Given the description of an element on the screen output the (x, y) to click on. 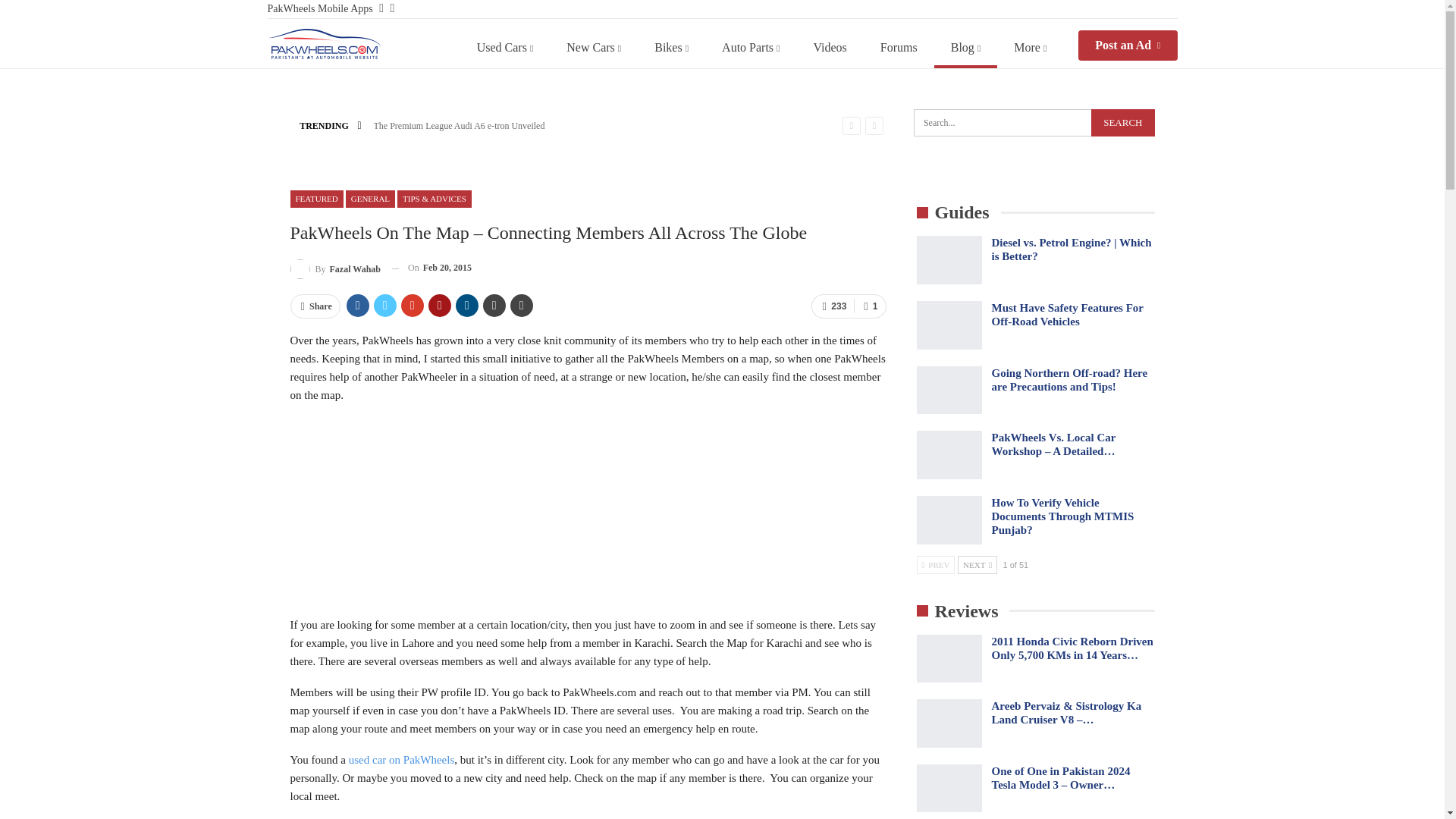
Search (1122, 122)
Used Cars (505, 46)
Used Cars for sale in Pakistan (505, 46)
PakWheels Blog (323, 43)
PakWheels Mobile Apps (319, 8)
Auto Parts (750, 46)
Bikes (670, 46)
Forums (898, 46)
Blog (965, 46)
Videos (829, 46)
Search (1122, 122)
New Cars (593, 46)
